Given the description of an element on the screen output the (x, y) to click on. 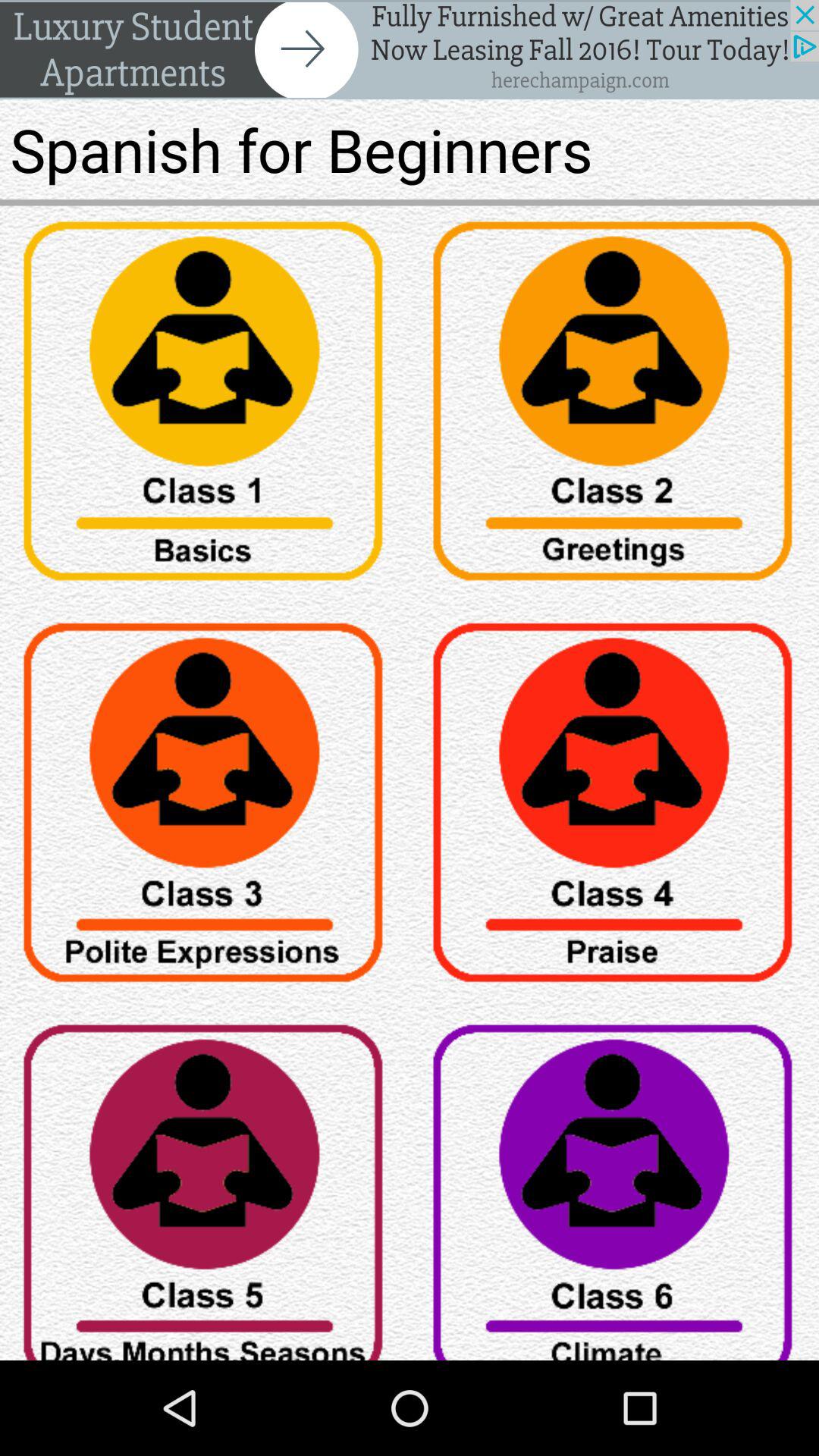
select item (204, 1184)
